Given the description of an element on the screen output the (x, y) to click on. 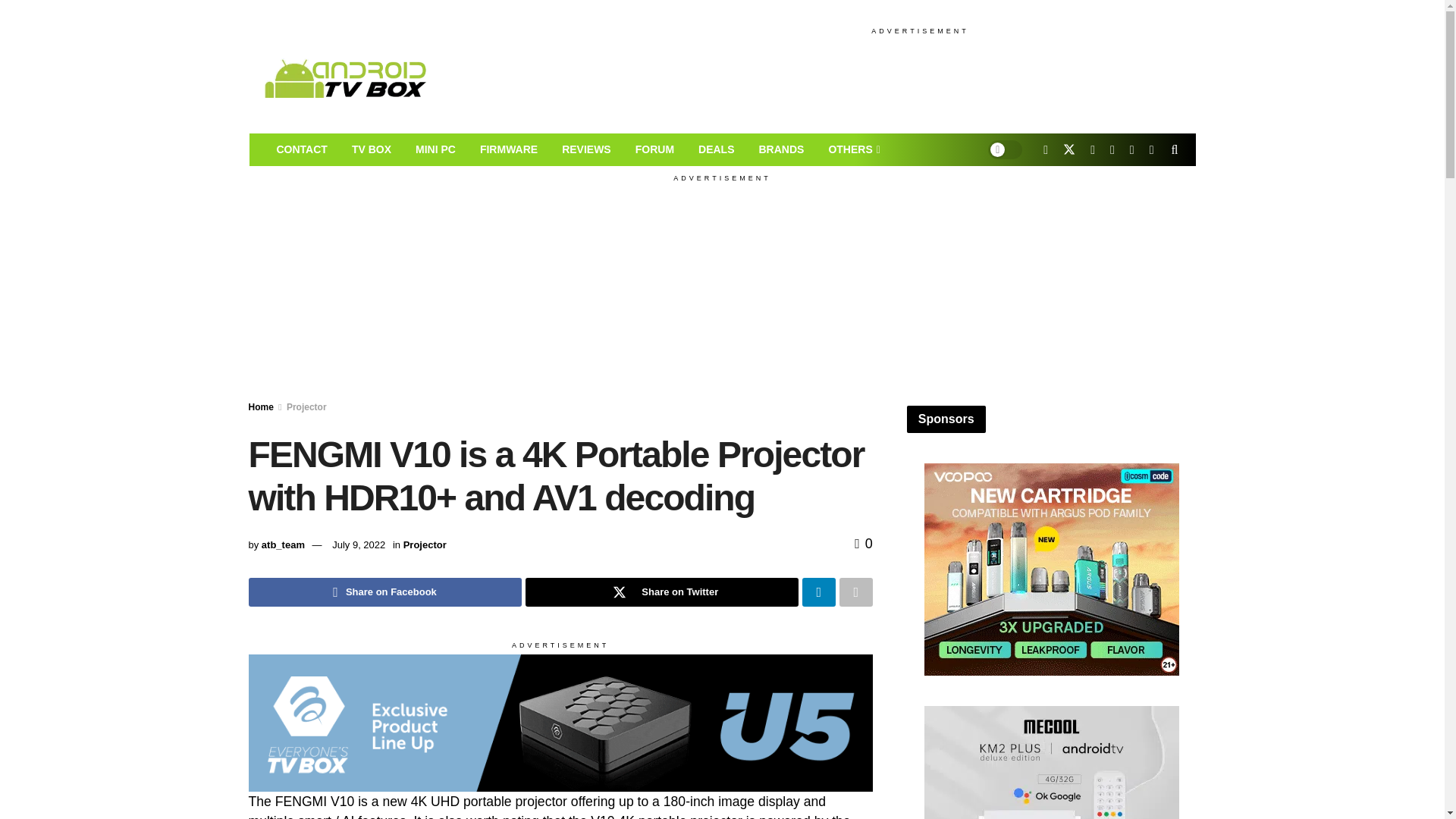
FIRMWARE (508, 149)
OTHERS (852, 149)
glyphicon-envelope (301, 149)
DEALS (715, 149)
BRANDS (780, 149)
CONTACT (301, 149)
TV BOX (371, 149)
MINI PC (435, 149)
FORUM (654, 149)
REVIEWS (586, 149)
